Given the description of an element on the screen output the (x, y) to click on. 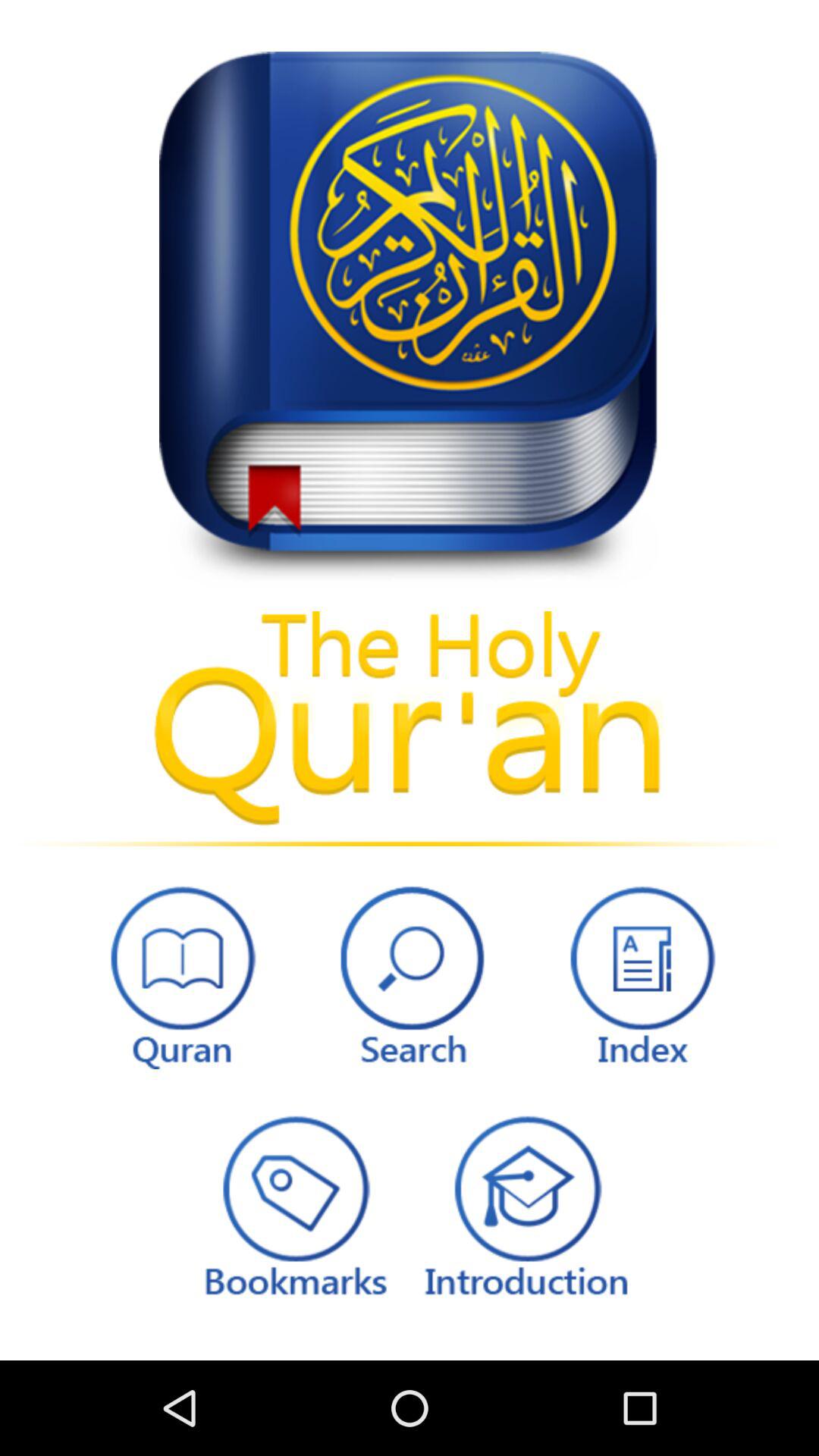
read the introduction (525, 1204)
